Given the description of an element on the screen output the (x, y) to click on. 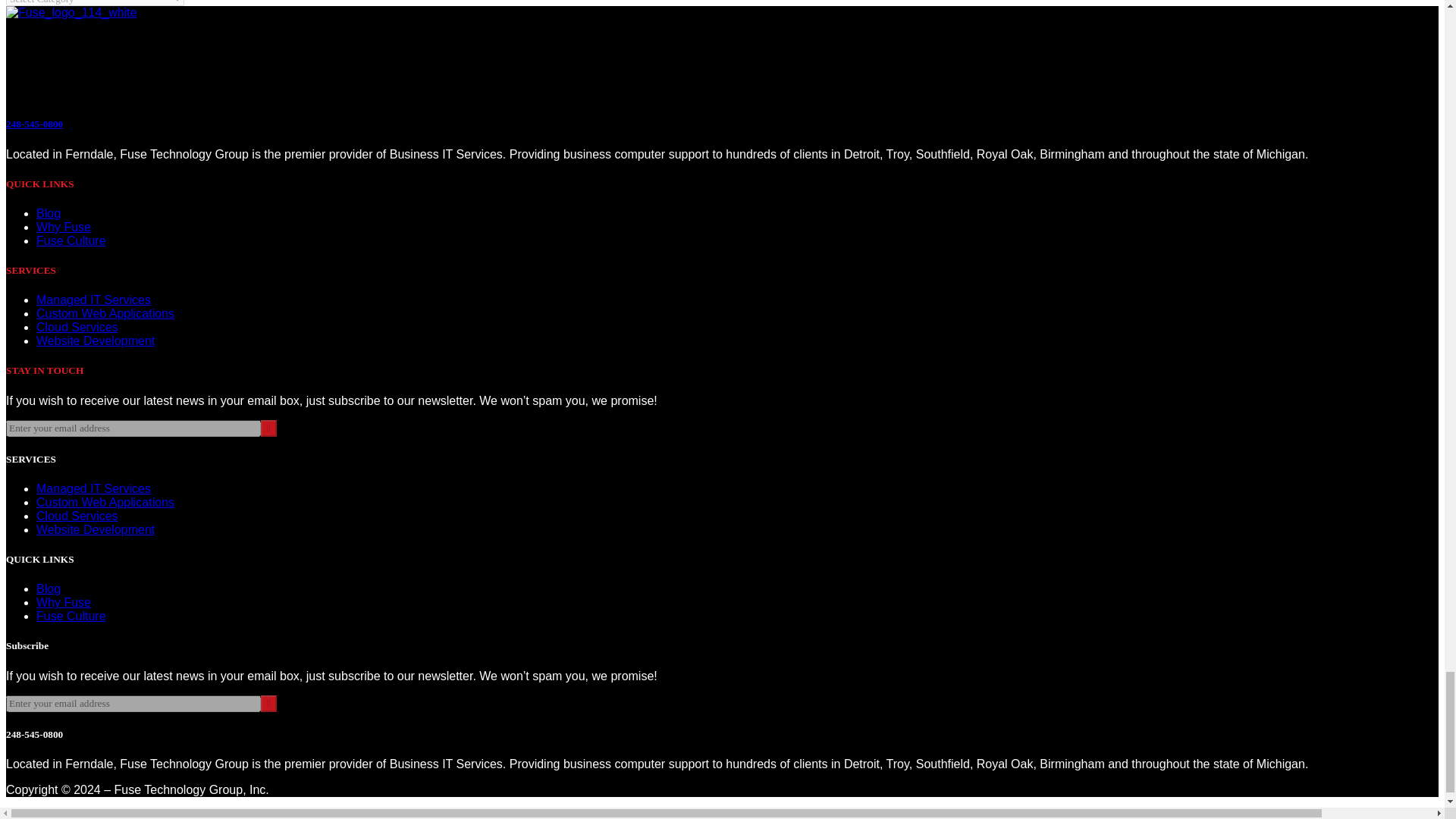
Enter your email address (132, 703)
248-545-0800 (33, 123)
Enter your email address (132, 428)
